Given the description of an element on the screen output the (x, y) to click on. 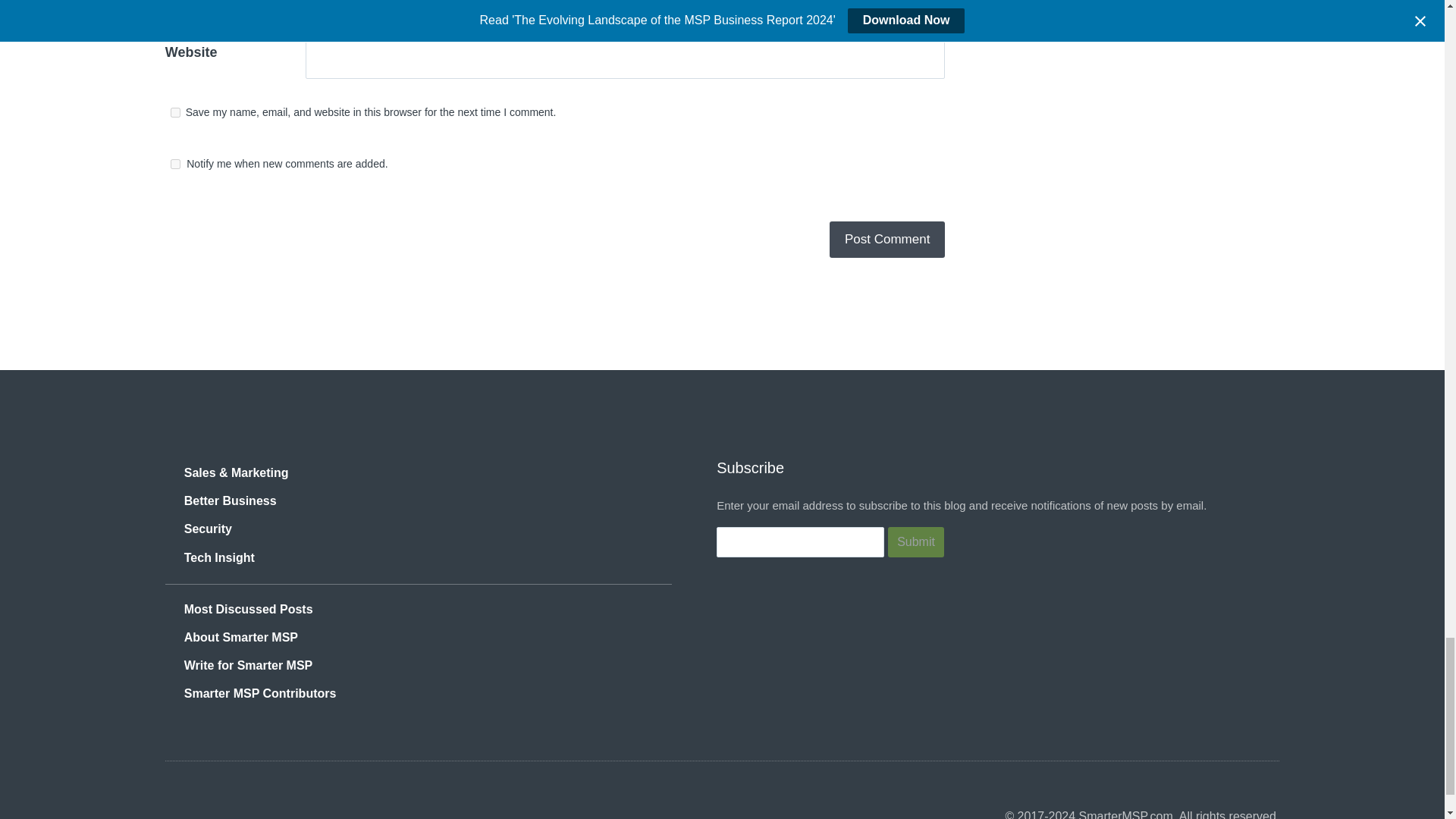
Post Comment (886, 239)
1 (175, 163)
yes (175, 112)
